Given the description of an element on the screen output the (x, y) to click on. 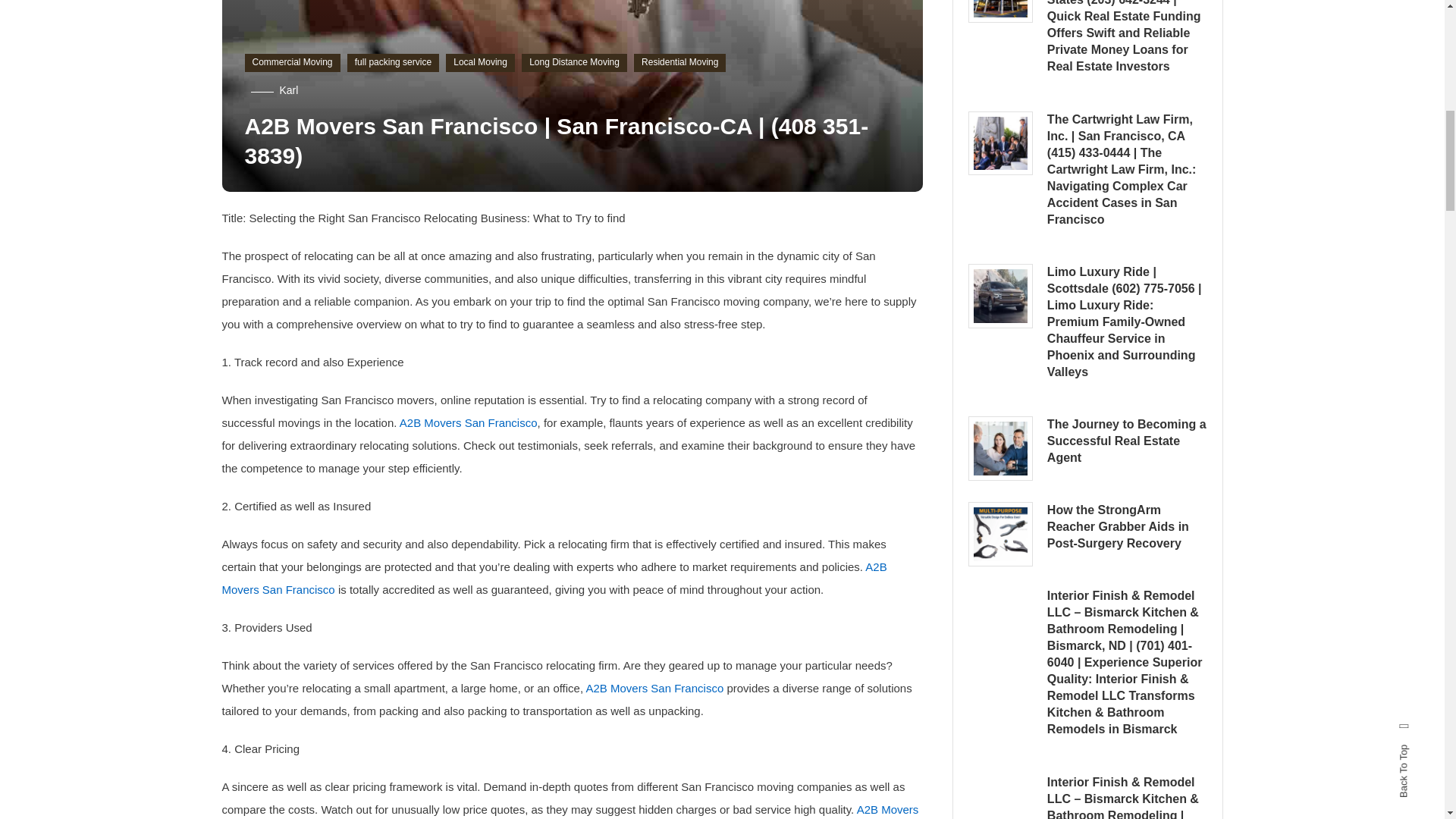
The Journey to Becoming a Successful Real Estate Agent (1000, 448)
Commercial Moving (291, 63)
Local Moving (480, 63)
full packing service (393, 63)
